Given the description of an element on the screen output the (x, y) to click on. 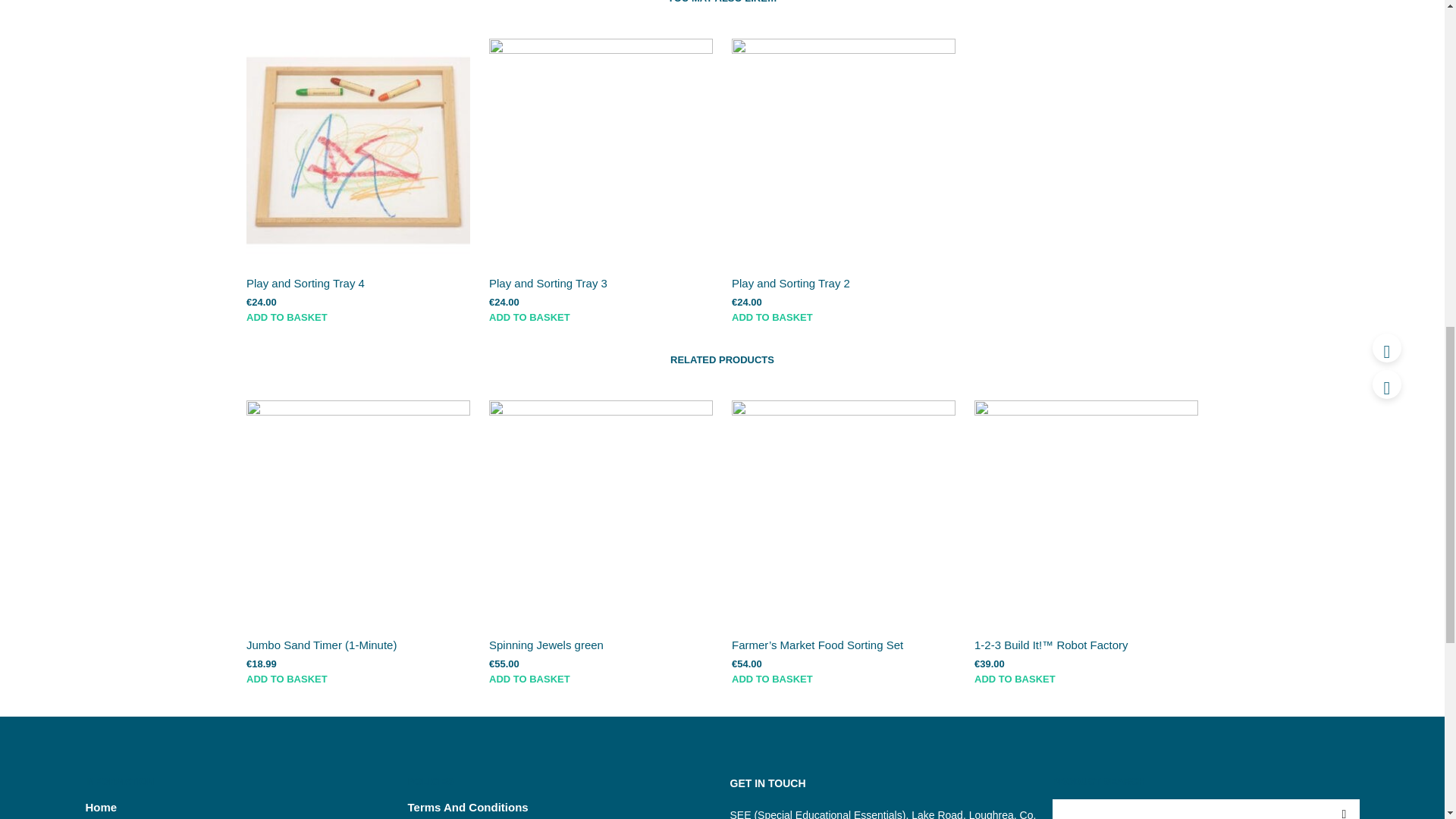
Search (1342, 809)
Search (1342, 809)
